Given the description of an element on the screen output the (x, y) to click on. 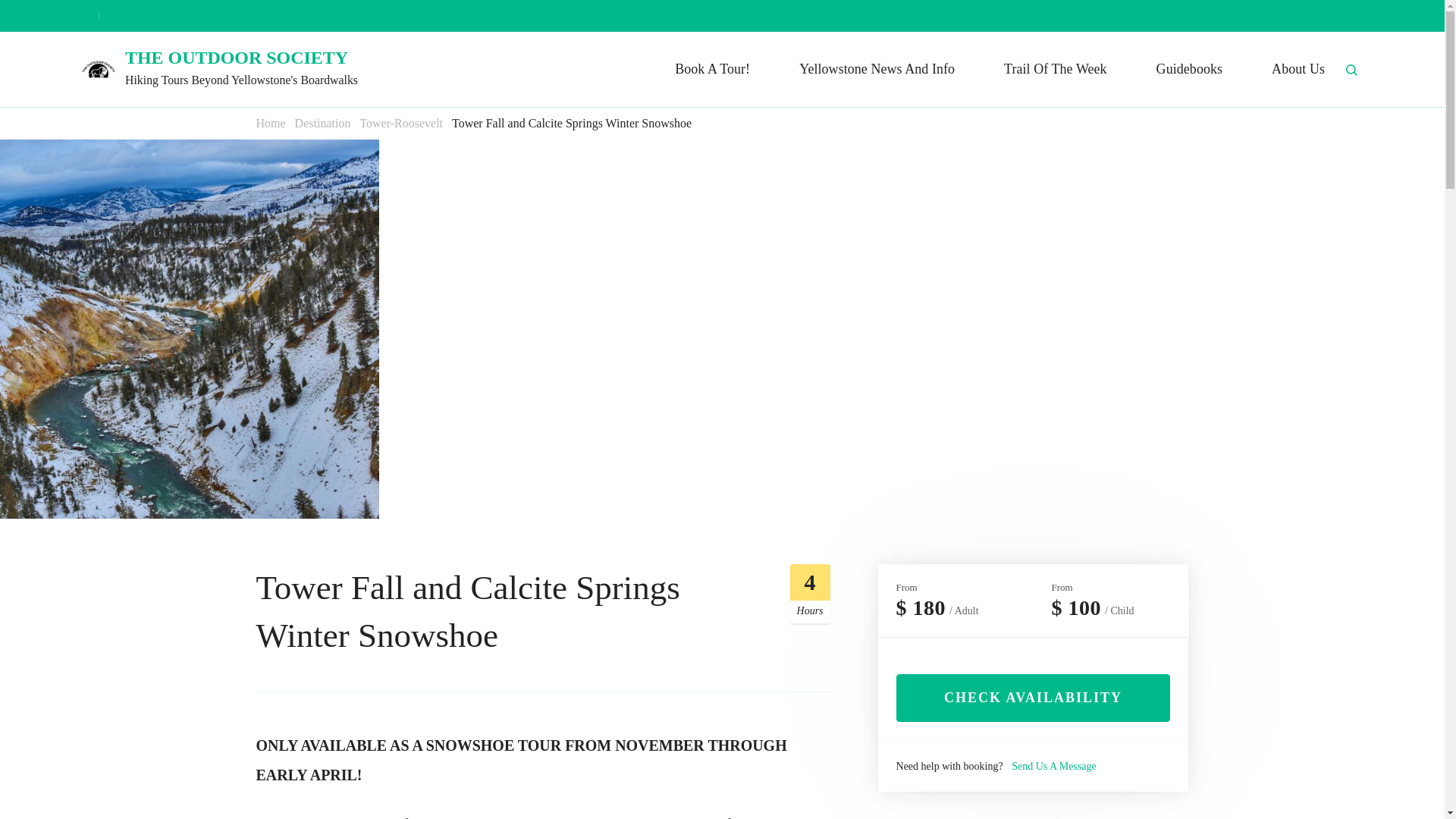
Tower Fall and Calcite Springs Winter Snowshoe (571, 123)
Trail Of The Week (1055, 68)
Guidebooks (1189, 68)
THE OUTDOOR SOCIETY (236, 56)
Yellowstone News And Info (877, 68)
CHECK AVAILABILITY (1033, 697)
Destination (322, 123)
About Us (1297, 68)
Book A Tour! (712, 68)
Tower-Roosevelt (400, 123)
